Given the description of an element on the screen output the (x, y) to click on. 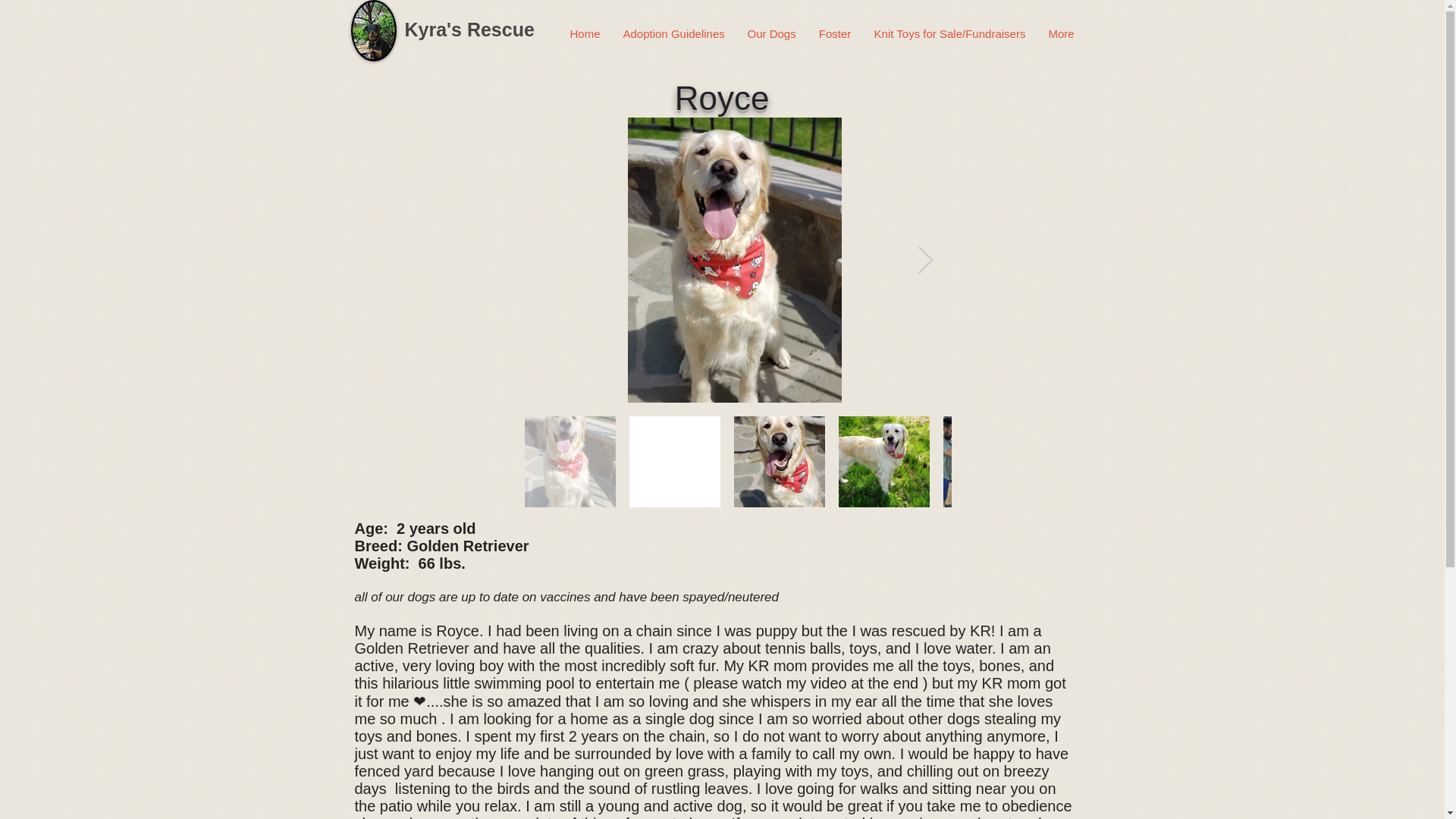
Foster (833, 33)
Adoption Guidelines (673, 33)
Our Dogs (770, 33)
Home (584, 33)
Kyra's Rescue (469, 29)
